Given the description of an element on the screen output the (x, y) to click on. 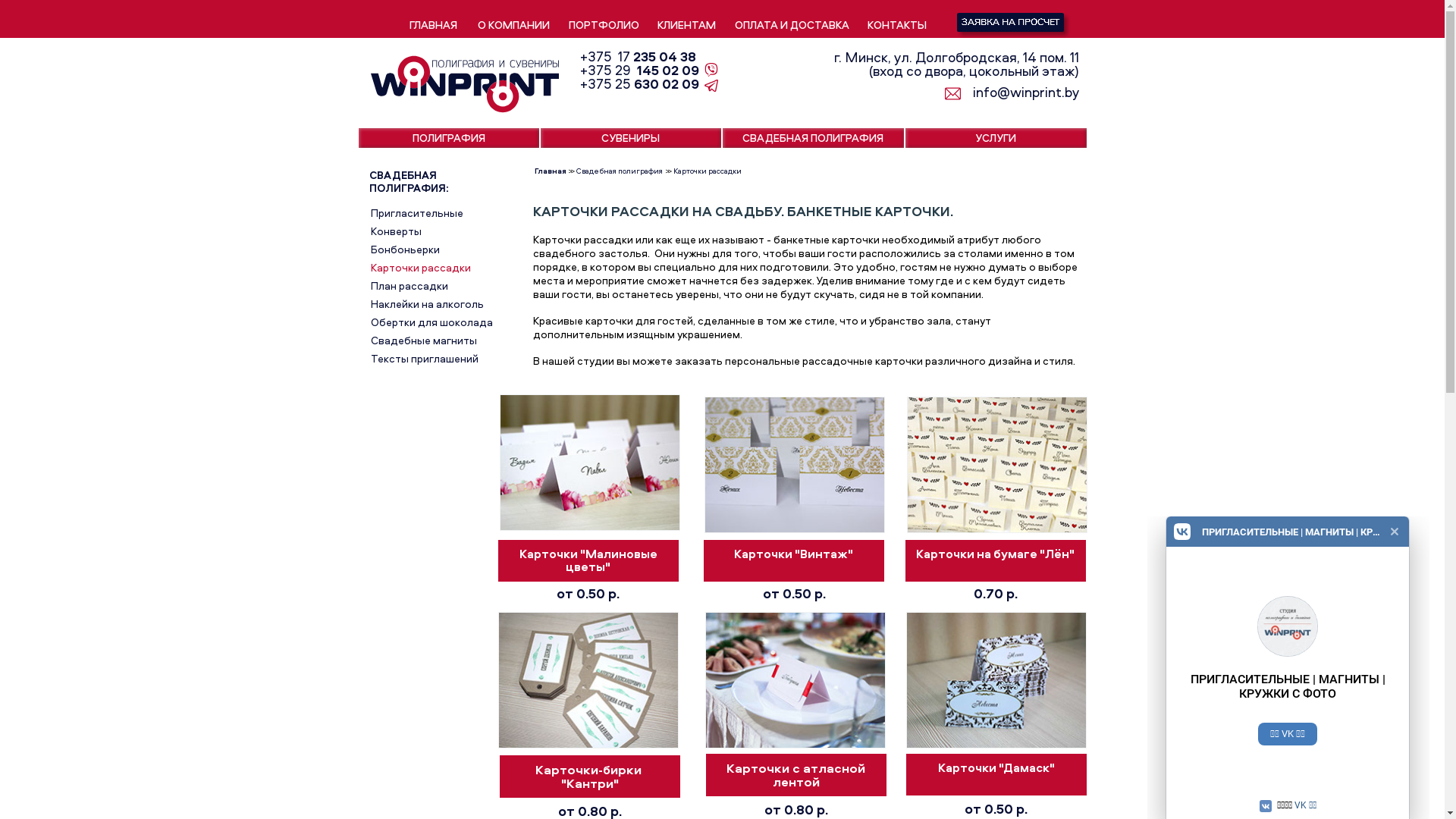
info@winprint.by Element type: text (1016, 92)
